Given the description of an element on the screen output the (x, y) to click on. 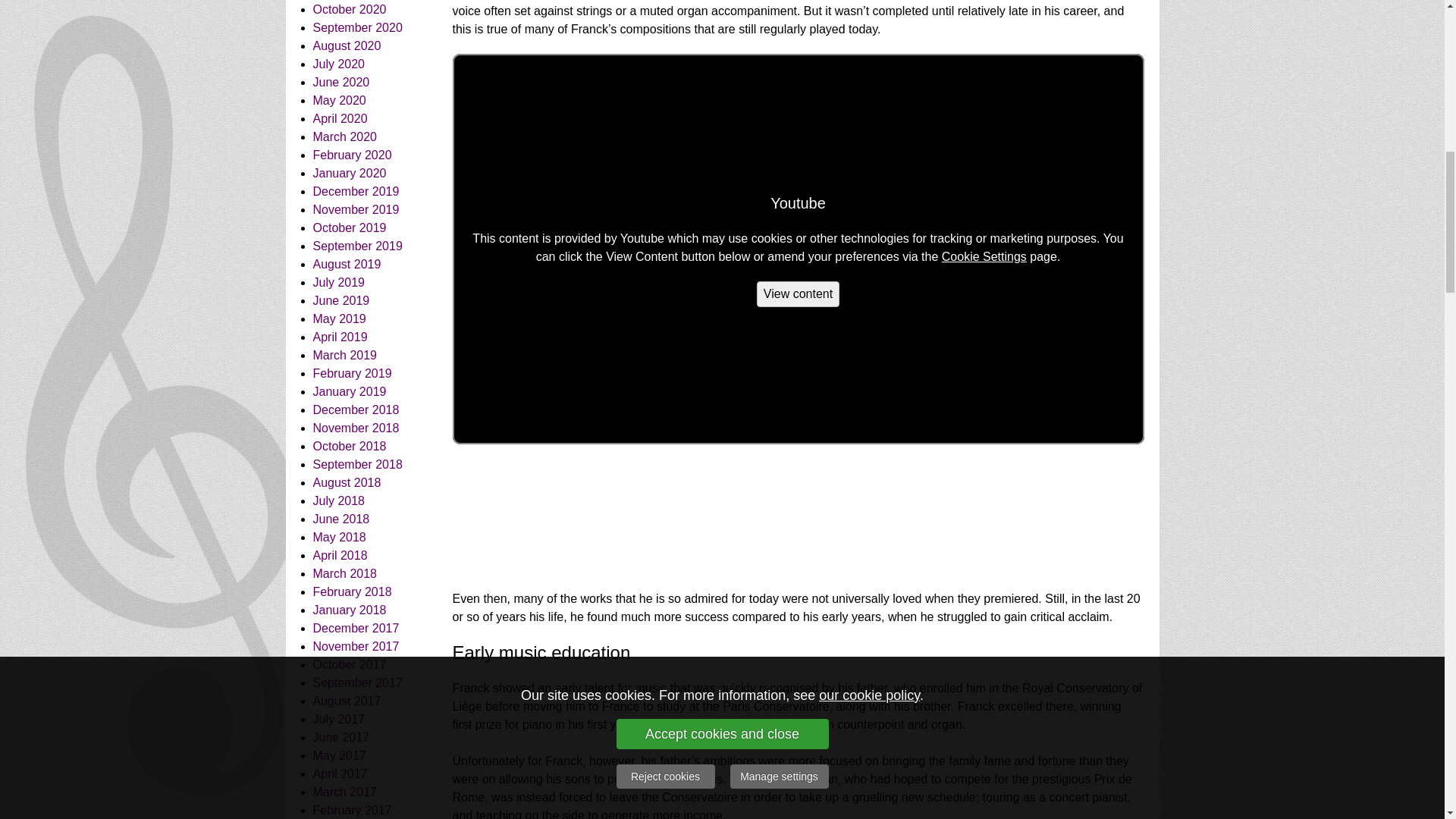
View content (798, 294)
Cookie Settings (984, 256)
